Given the description of an element on the screen output the (x, y) to click on. 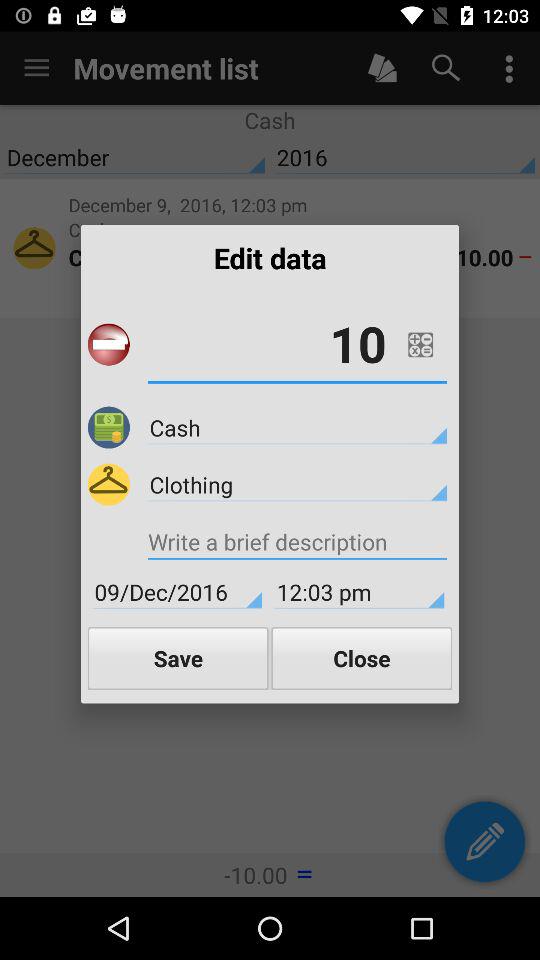
choose the icon below 09/dec/2016 icon (177, 658)
